Given the description of an element on the screen output the (x, y) to click on. 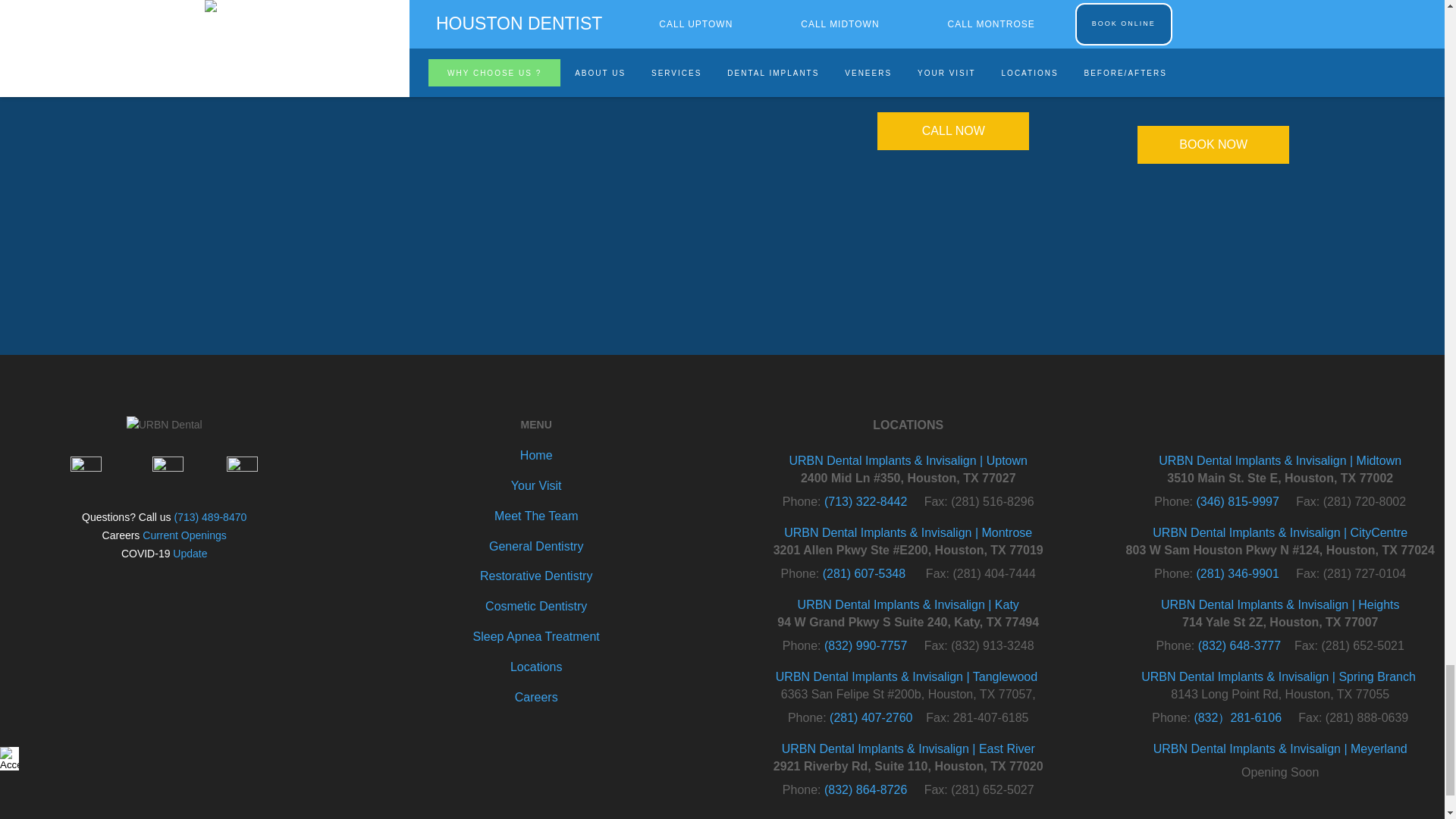
Home (536, 454)
Restorative Dentistry (536, 575)
Meet The Team (536, 515)
Your Visit (536, 485)
General Dentistry (536, 545)
Cosmetic Dentistry (535, 605)
